Given the description of an element on the screen output the (x, y) to click on. 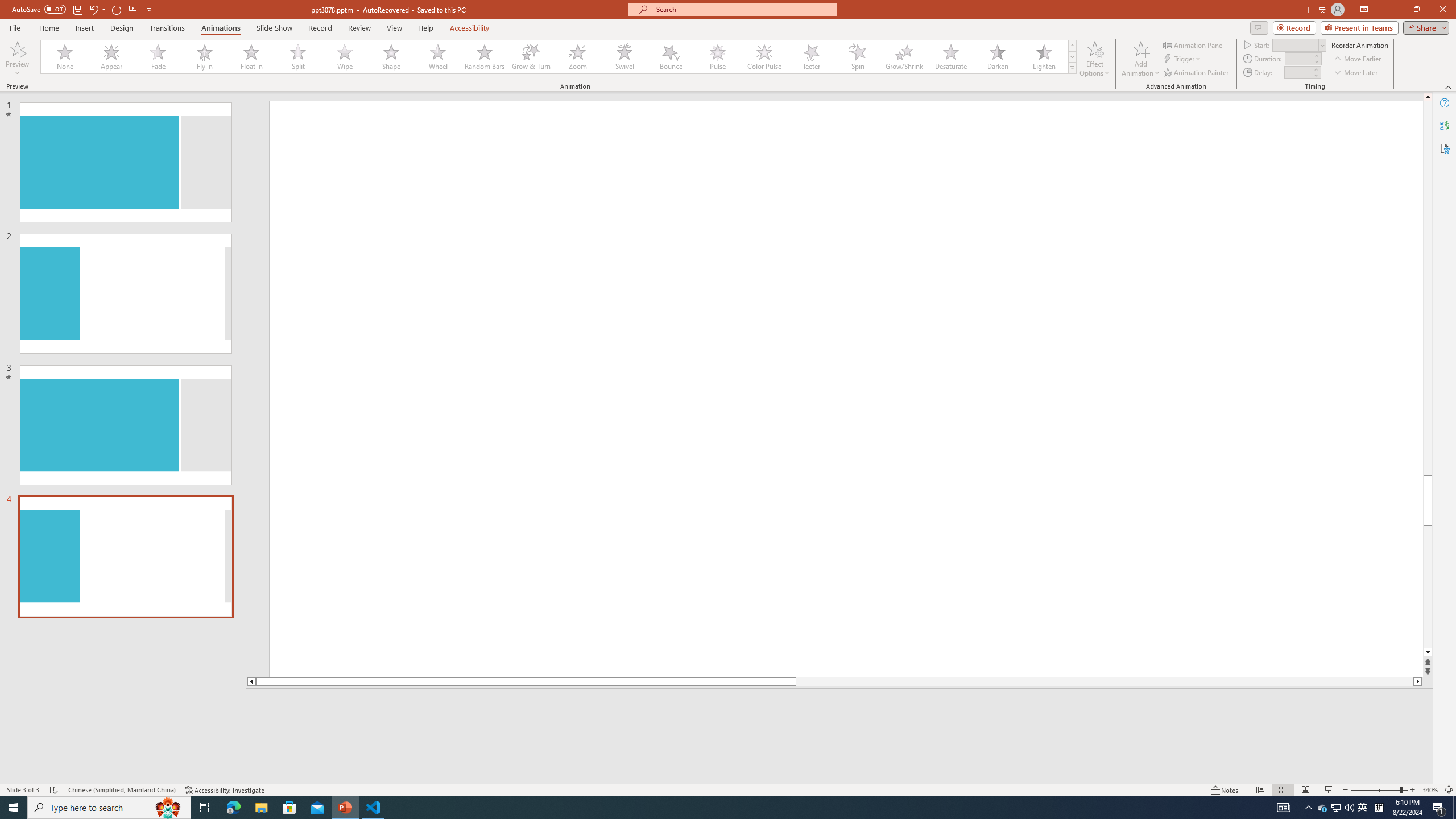
Animation Styles (1071, 67)
Zoom 340% (1430, 790)
